Given the description of an element on the screen output the (x, y) to click on. 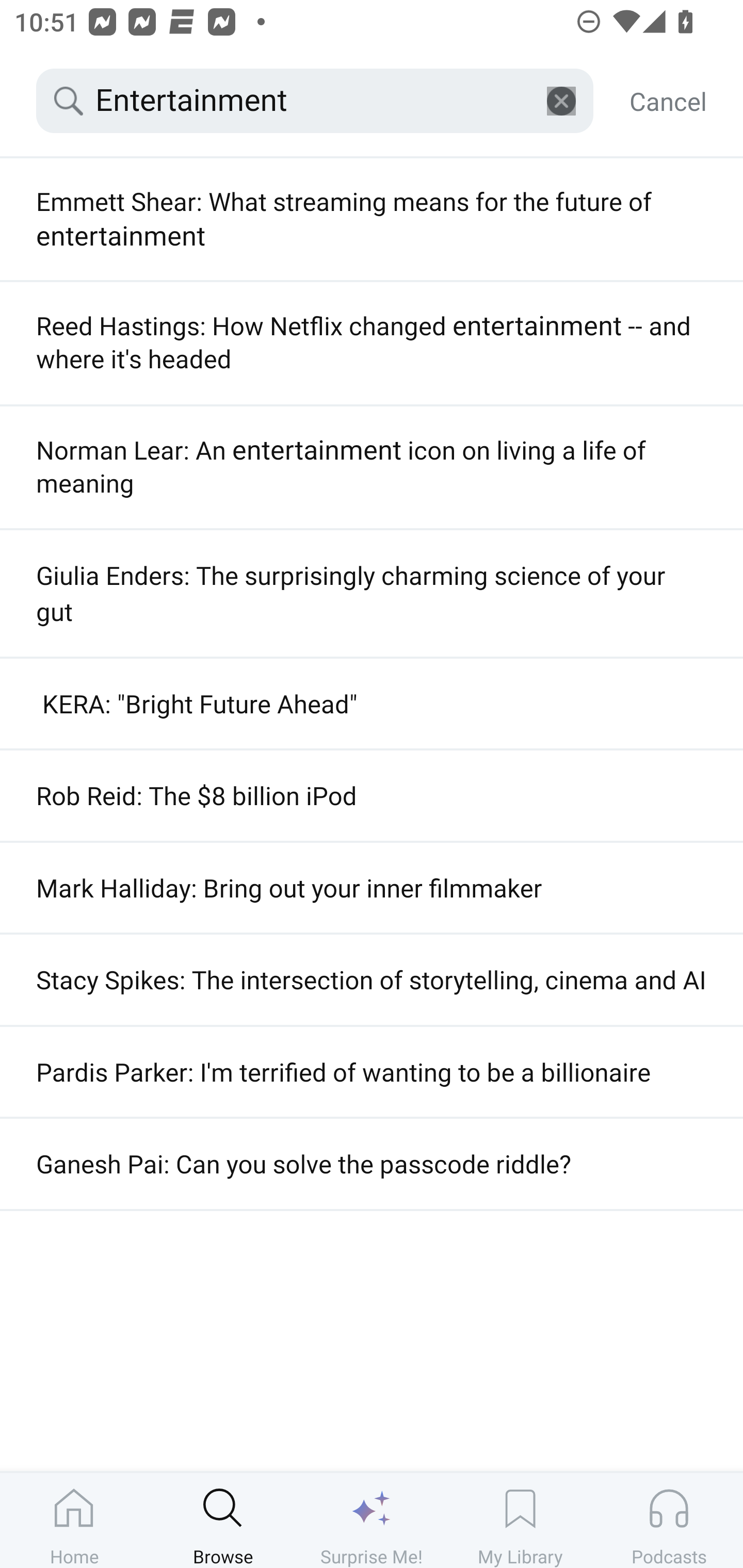
Entertainment (314, 100)
Cancel (667, 100)
 KERA: "Bright Future Ahead" (371, 703)
Rob Reid: The $8 billion iPod (371, 795)
Mark Halliday: Bring out your inner filmmaker (371, 887)
Ganesh Pai: Can you solve the passcode riddle? (371, 1162)
Home (74, 1520)
Browse (222, 1520)
Surprise Me! (371, 1520)
My Library (519, 1520)
Podcasts (668, 1520)
